Given the description of an element on the screen output the (x, y) to click on. 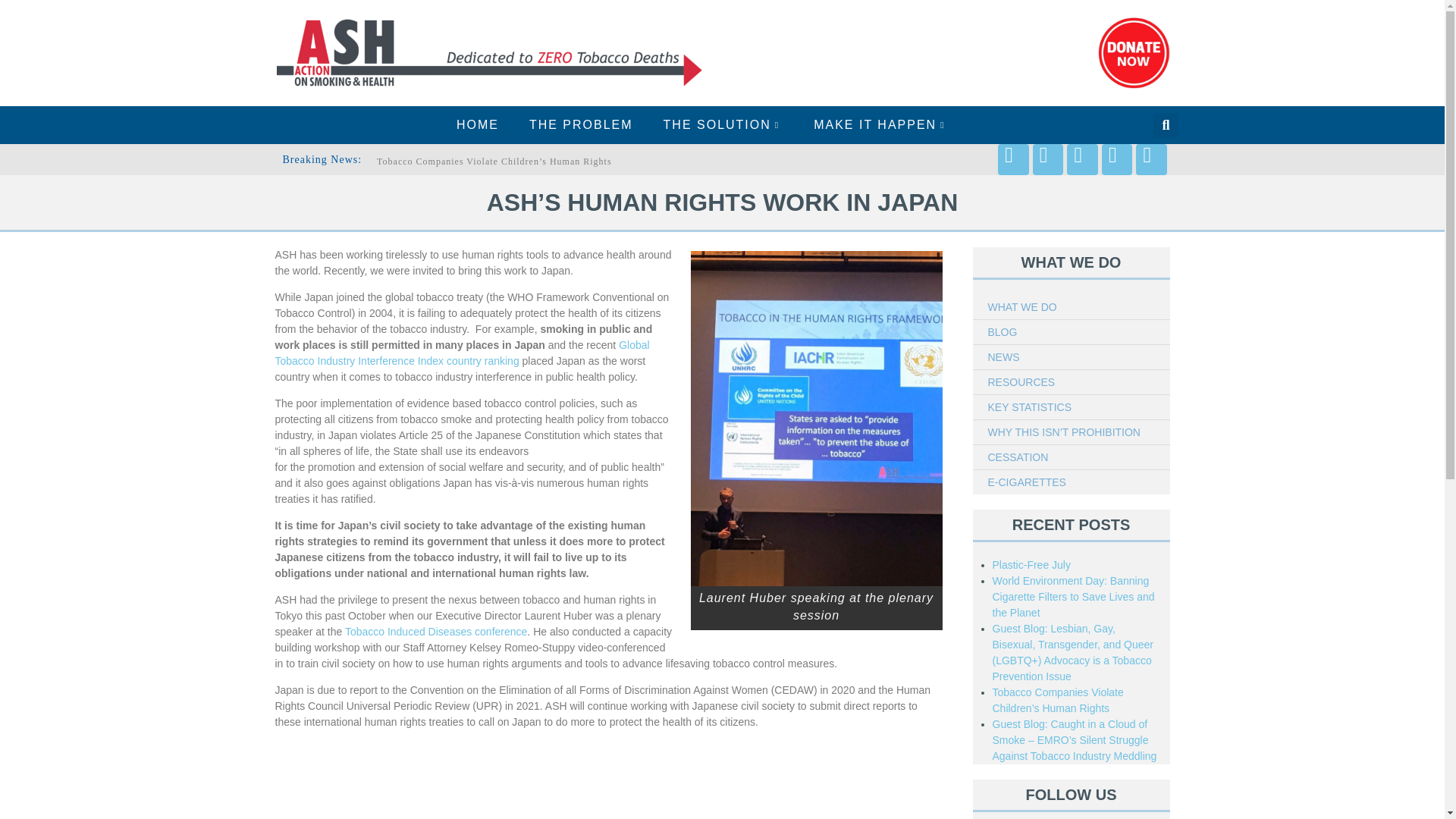
MAKE IT HAPPEN (880, 125)
THE PROBLEM (580, 125)
THE SOLUTION (723, 125)
HOME (477, 125)
